Given the description of an element on the screen output the (x, y) to click on. 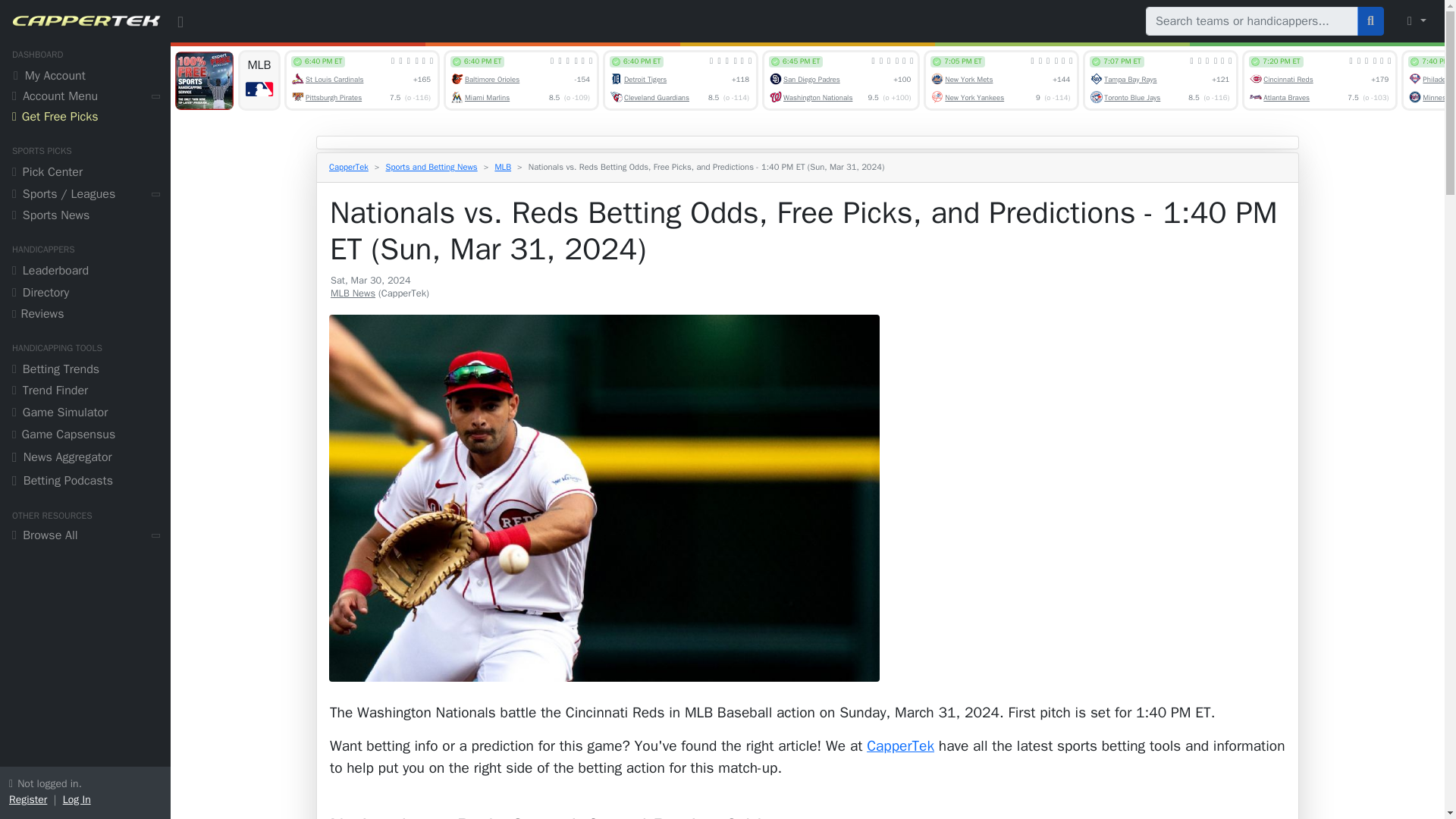
Account Menu (85, 97)
Betting Trends (85, 371)
Game Simulator (85, 414)
Get Free Picks (85, 118)
Betting Podcasts (85, 482)
Leaderboard (85, 272)
News Aggregator (85, 458)
Sports News (85, 217)
Game Capsensus (85, 436)
My Account (85, 77)
Trend Finder (85, 392)
Browse All (85, 536)
Pick Center (85, 173)
Reviews (85, 315)
Directory (85, 294)
